Given the description of an element on the screen output the (x, y) to click on. 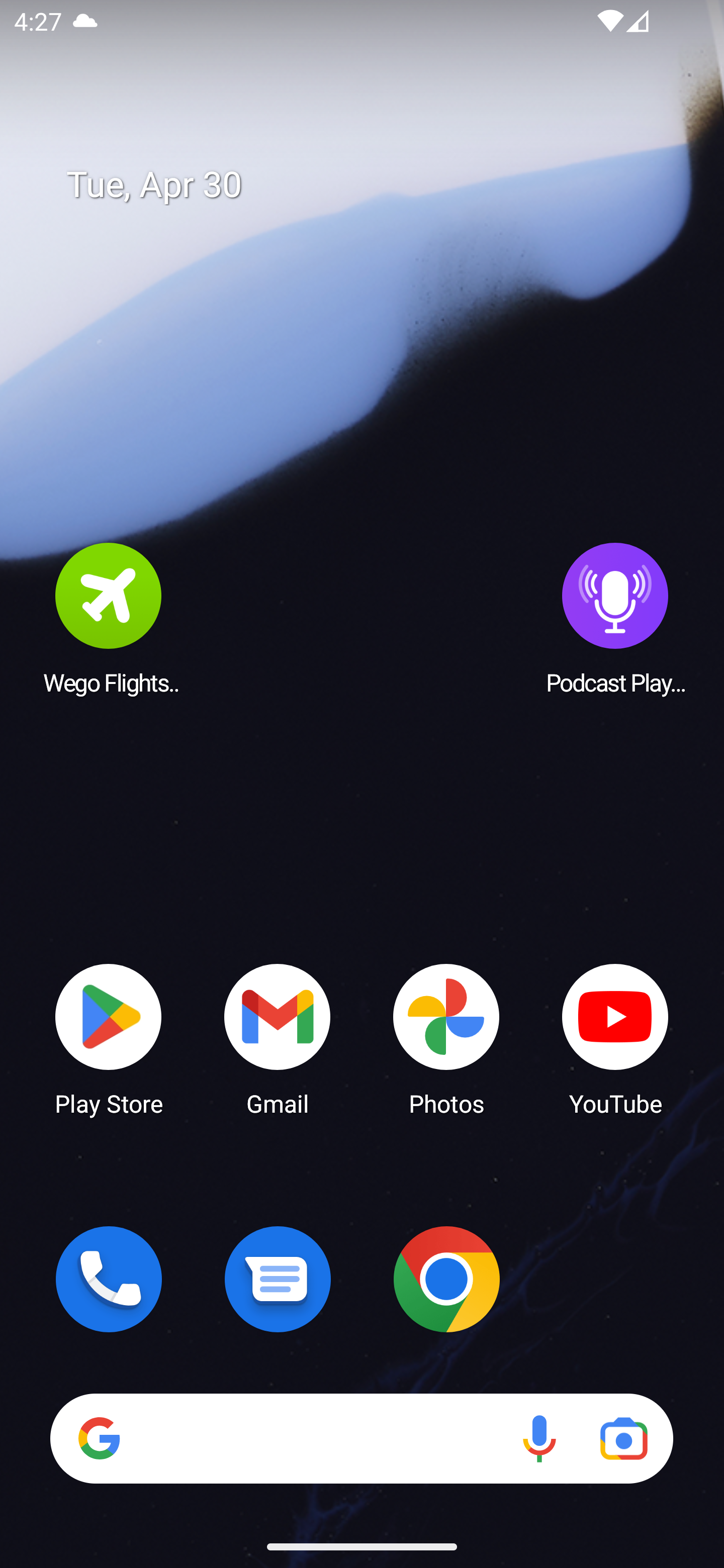
Tue, Apr 30 (375, 184)
Wego Flights & Hotels (108, 617)
Podcast Player (615, 617)
Play Store (108, 1038)
Gmail (277, 1038)
Photos (445, 1038)
YouTube (615, 1038)
Phone (108, 1279)
Messages (277, 1279)
Chrome (446, 1279)
Voice search (539, 1438)
Google Lens (623, 1438)
